Given the description of an element on the screen output the (x, y) to click on. 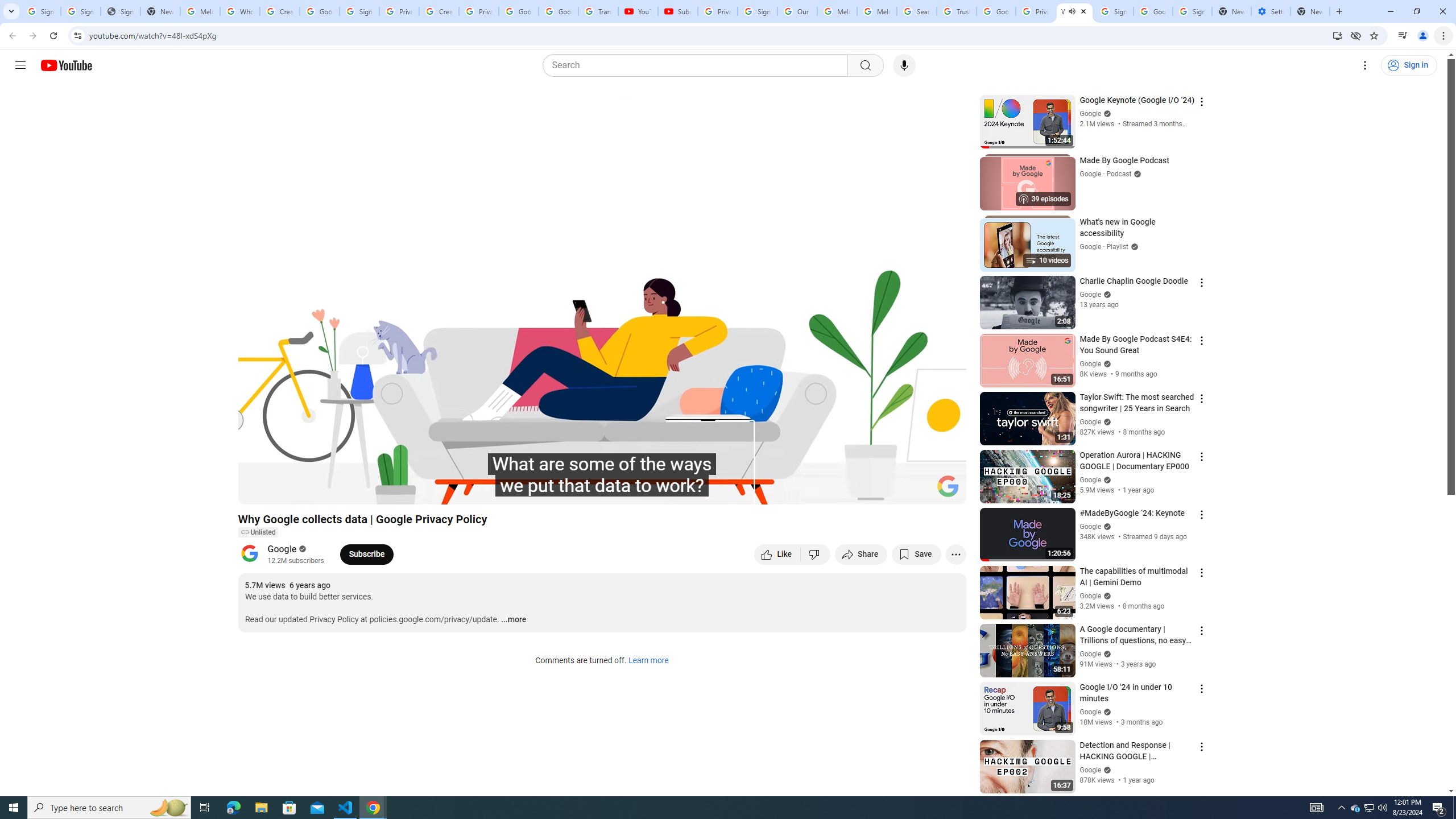
Next (SHIFT+n) (284, 490)
Install YouTube (1336, 35)
Share (861, 554)
Sign in - Google Accounts (1192, 11)
Subscribe to Google. (366, 554)
